Given the description of an element on the screen output the (x, y) to click on. 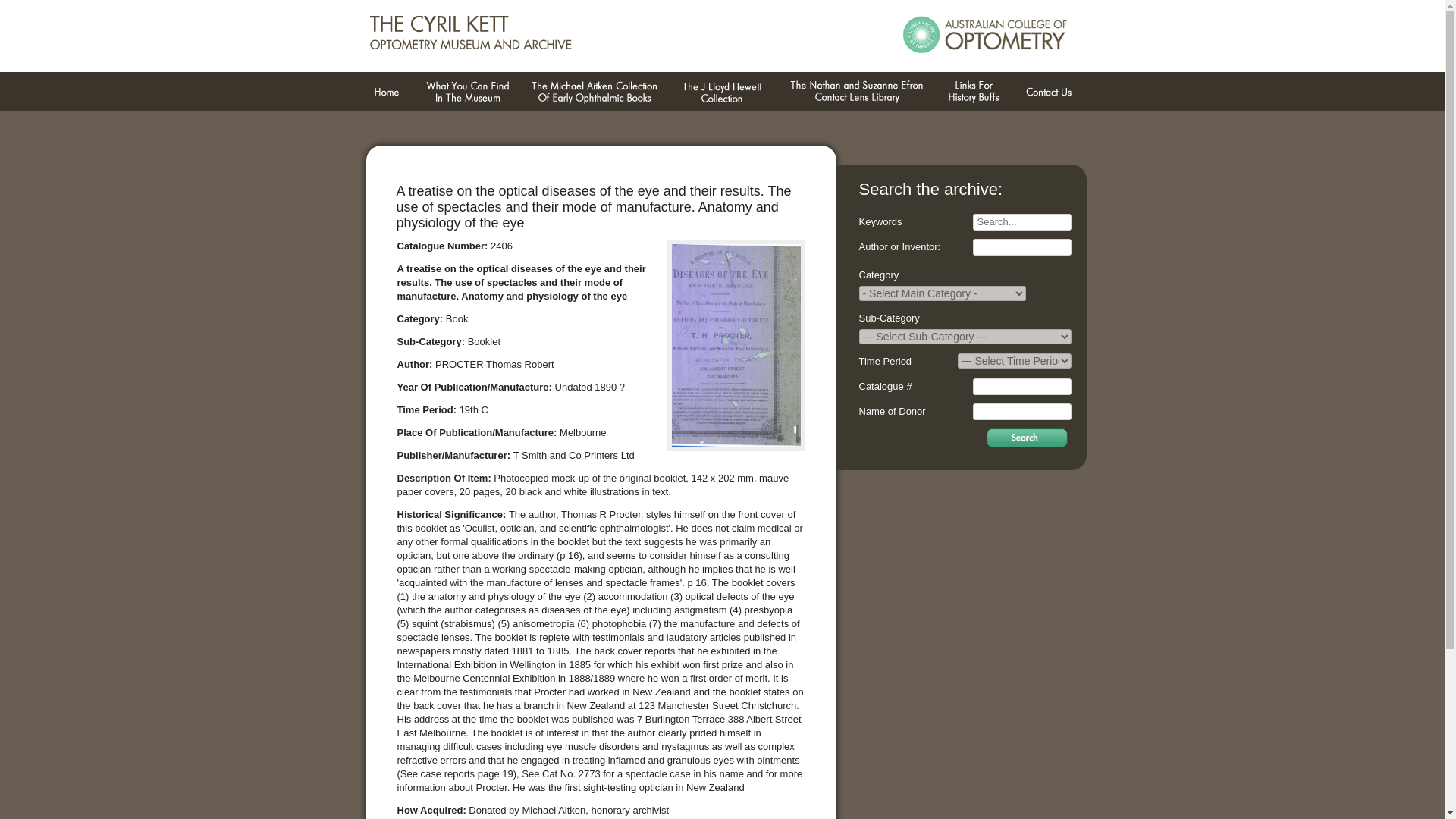
THE J LLOYD HEWETT COLLECTION (721, 91)
Search... (1021, 221)
HOME (385, 91)
WHAT YOU CAN FIND IN THE MUSEUM (465, 91)
CONTACT US (1048, 91)
Search (1026, 437)
Search (1026, 437)
THE NATHAN AND SUZANNE EFRON CONTACT LENS LIBRARY (856, 91)
LINKS FOR HISTORY BUFFS (973, 91)
THE MICHAEL AITKEN COLLECTION OF EARLY OPHTHALMIC BOOKS (593, 91)
